Given the description of an element on the screen output the (x, y) to click on. 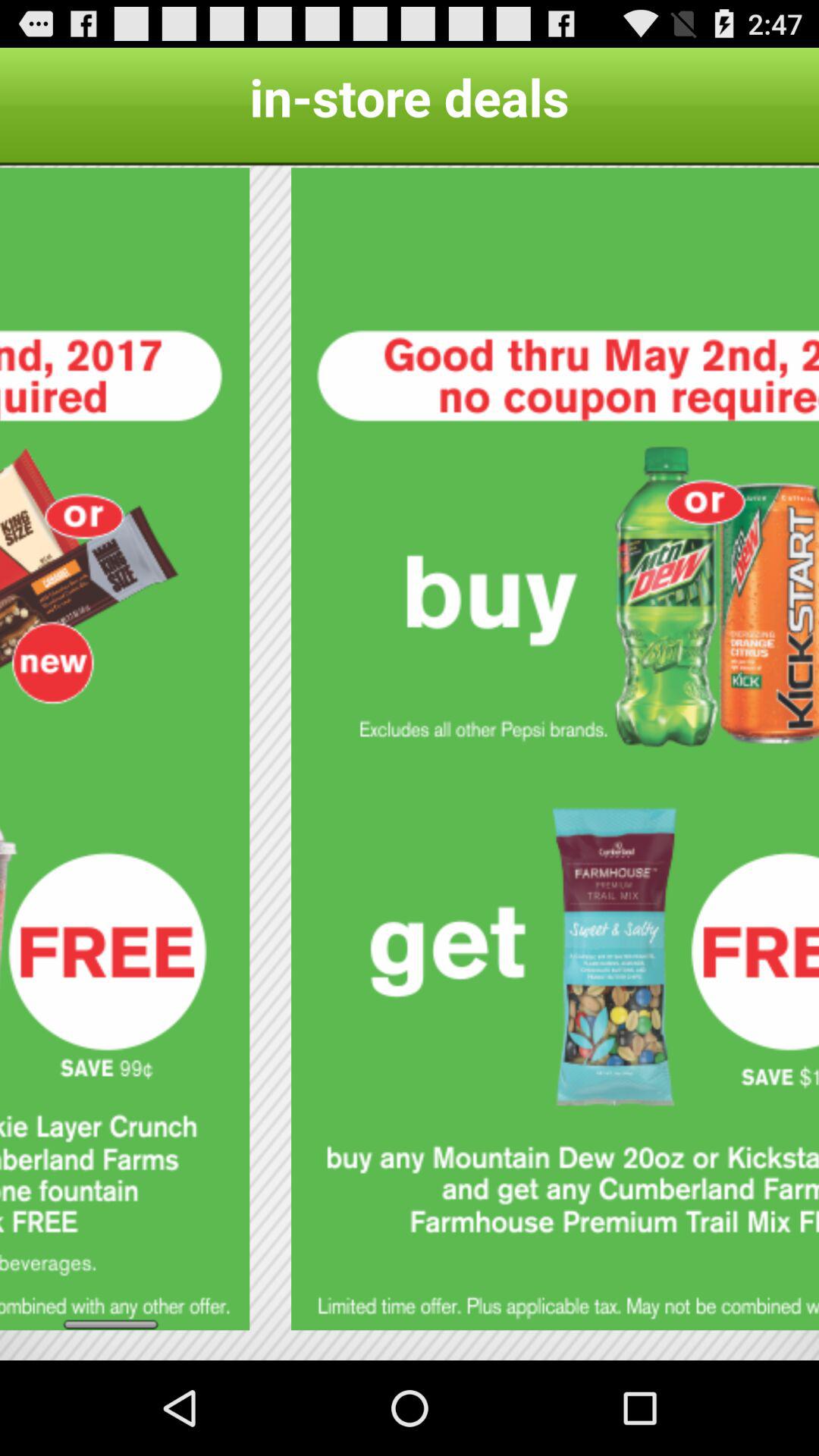
launch icon below the in-store deals icon (555, 748)
